Given the description of an element on the screen output the (x, y) to click on. 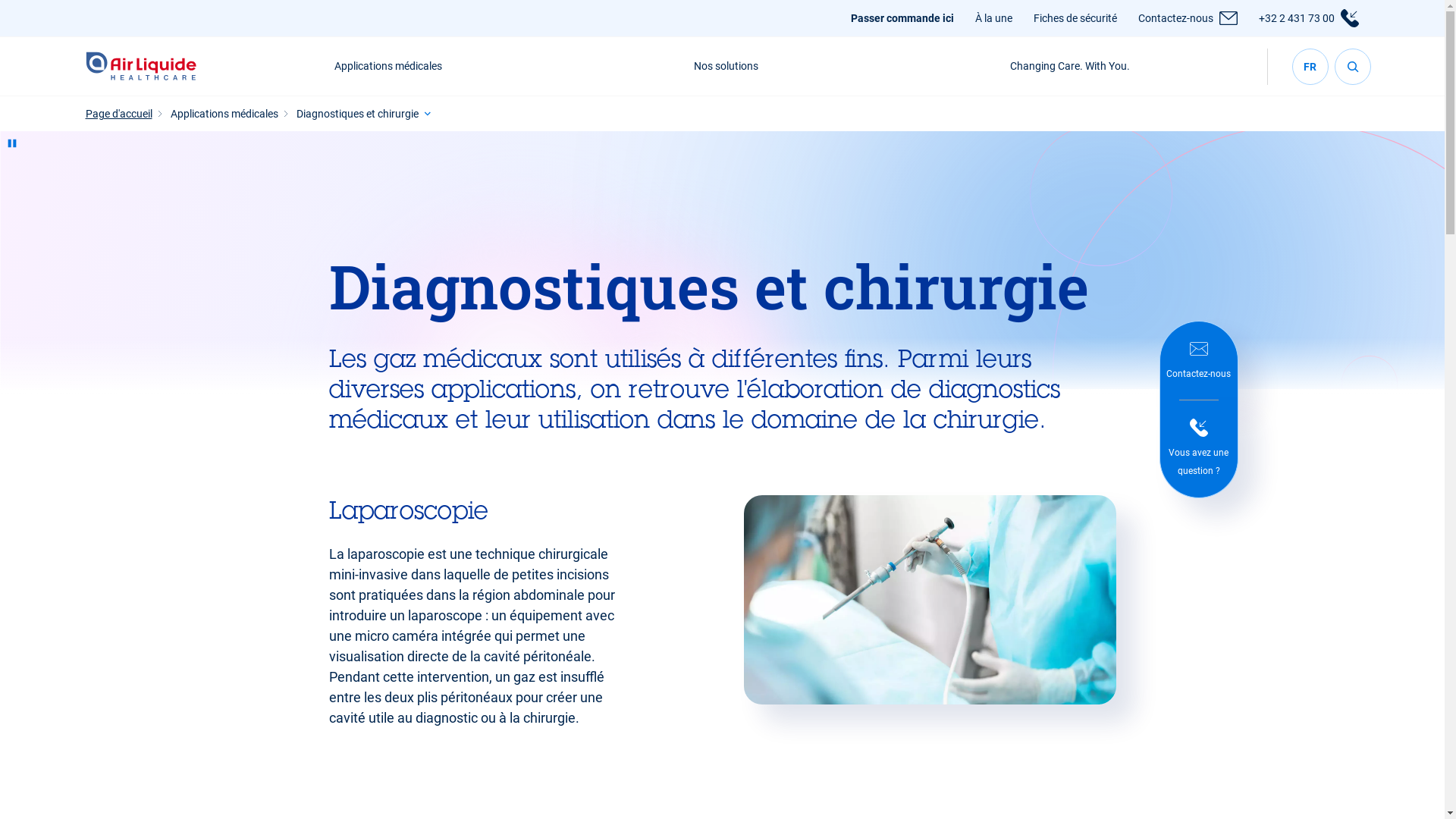
Skip to main content Element type: text (0, 0)
Contactez-nous Element type: text (1198, 360)
Contactez-nous Element type: text (1174, 18)
FR Element type: text (1310, 66)
Nos solutions Element type: text (725, 66)
Passer commande ici Element type: text (901, 18)
Vous avez une question ? Element type: text (1198, 449)
Page d'accueil Element type: text (117, 113)
Changing Care. With You. Element type: text (1069, 66)
Diagnostiques et chirurgie Element type: text (356, 113)
+32 2 431 73 00 Element type: text (1296, 18)
